Given the description of an element on the screen output the (x, y) to click on. 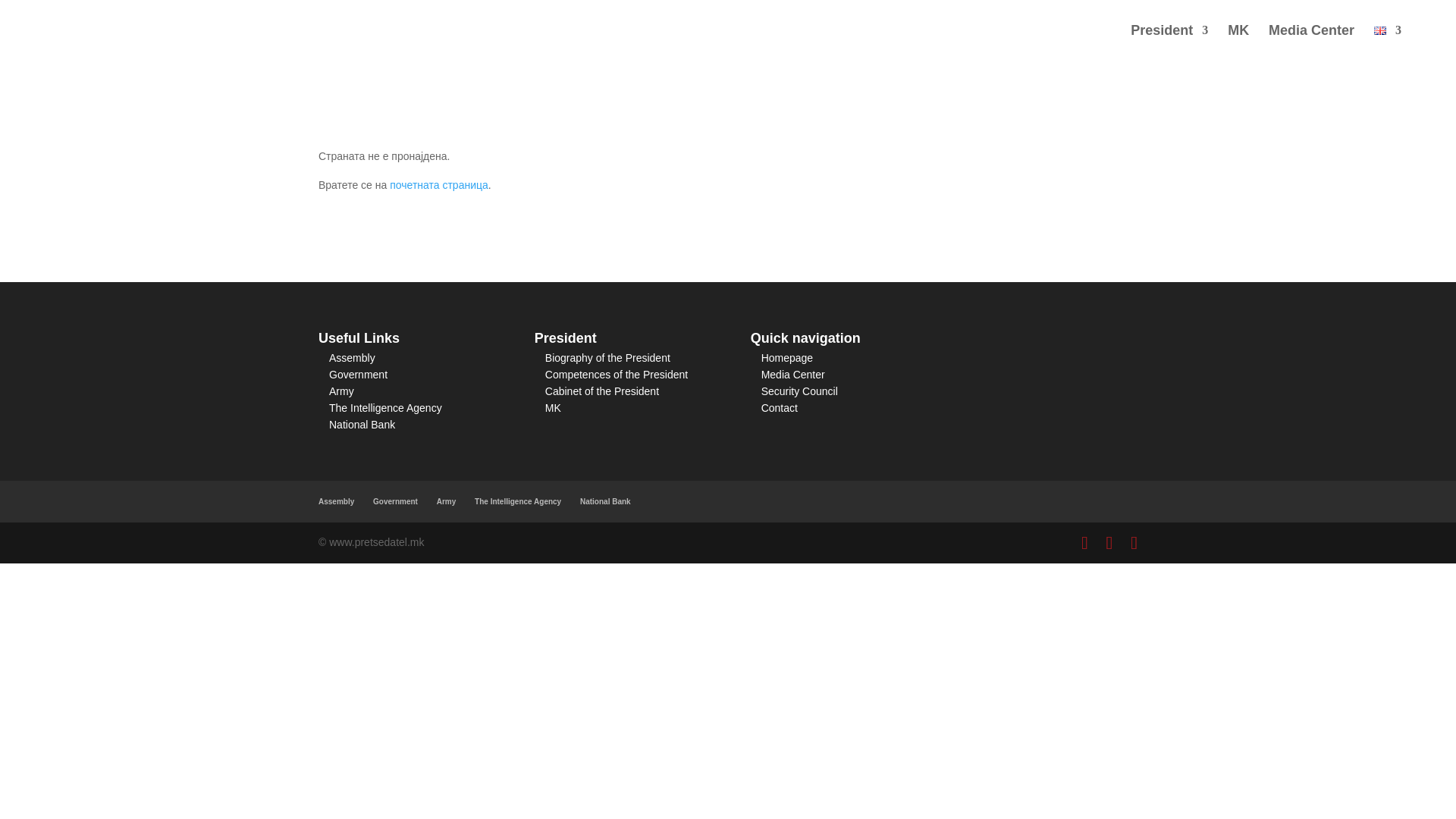
Contact (779, 408)
The Intelligence Agency (517, 501)
President (1169, 42)
National Bank (361, 424)
National Bank (604, 501)
Government (358, 374)
MK (552, 408)
Army (446, 501)
Media Center (793, 374)
Security Council (799, 390)
